Given the description of an element on the screen output the (x, y) to click on. 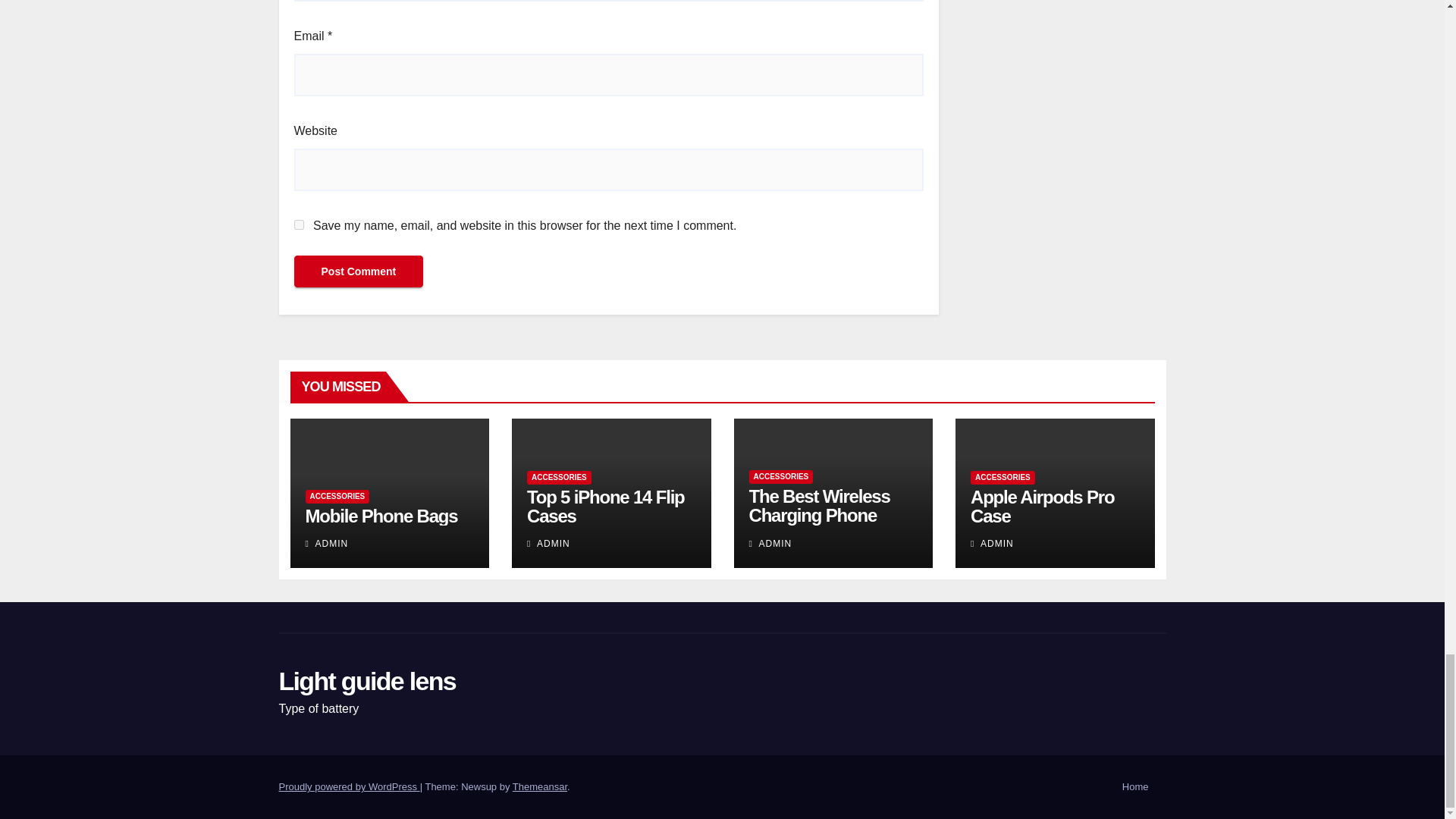
yes (299, 225)
Post Comment (358, 271)
Permalink to: Mobile Phone Bags (380, 516)
Post Comment (358, 271)
